Given the description of an element on the screen output the (x, y) to click on. 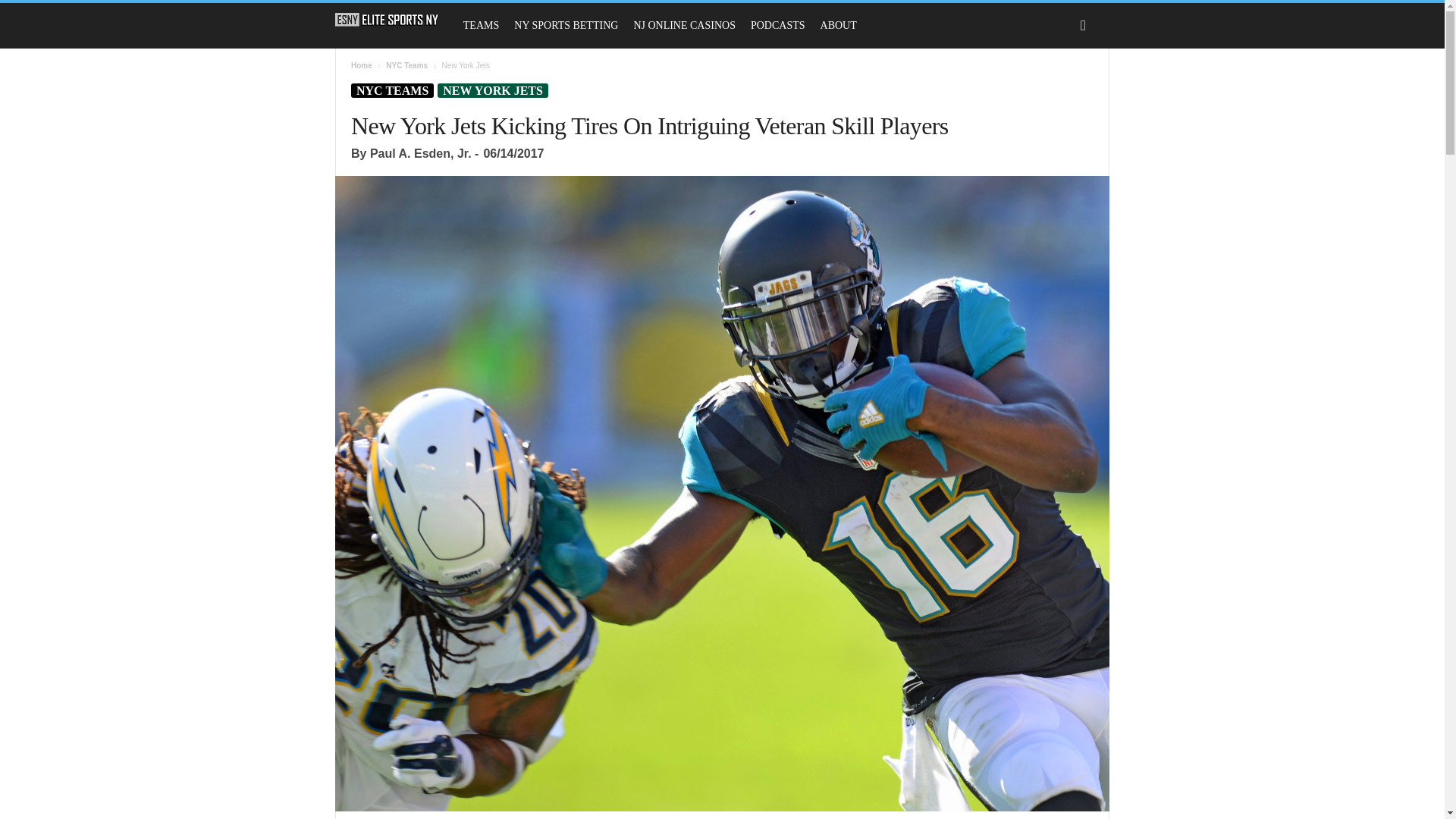
Elite Sports NY (394, 19)
Elite Sports NY (386, 19)
View all posts in NYC Teams (406, 65)
TEAMS (480, 25)
